Given the description of an element on the screen output the (x, y) to click on. 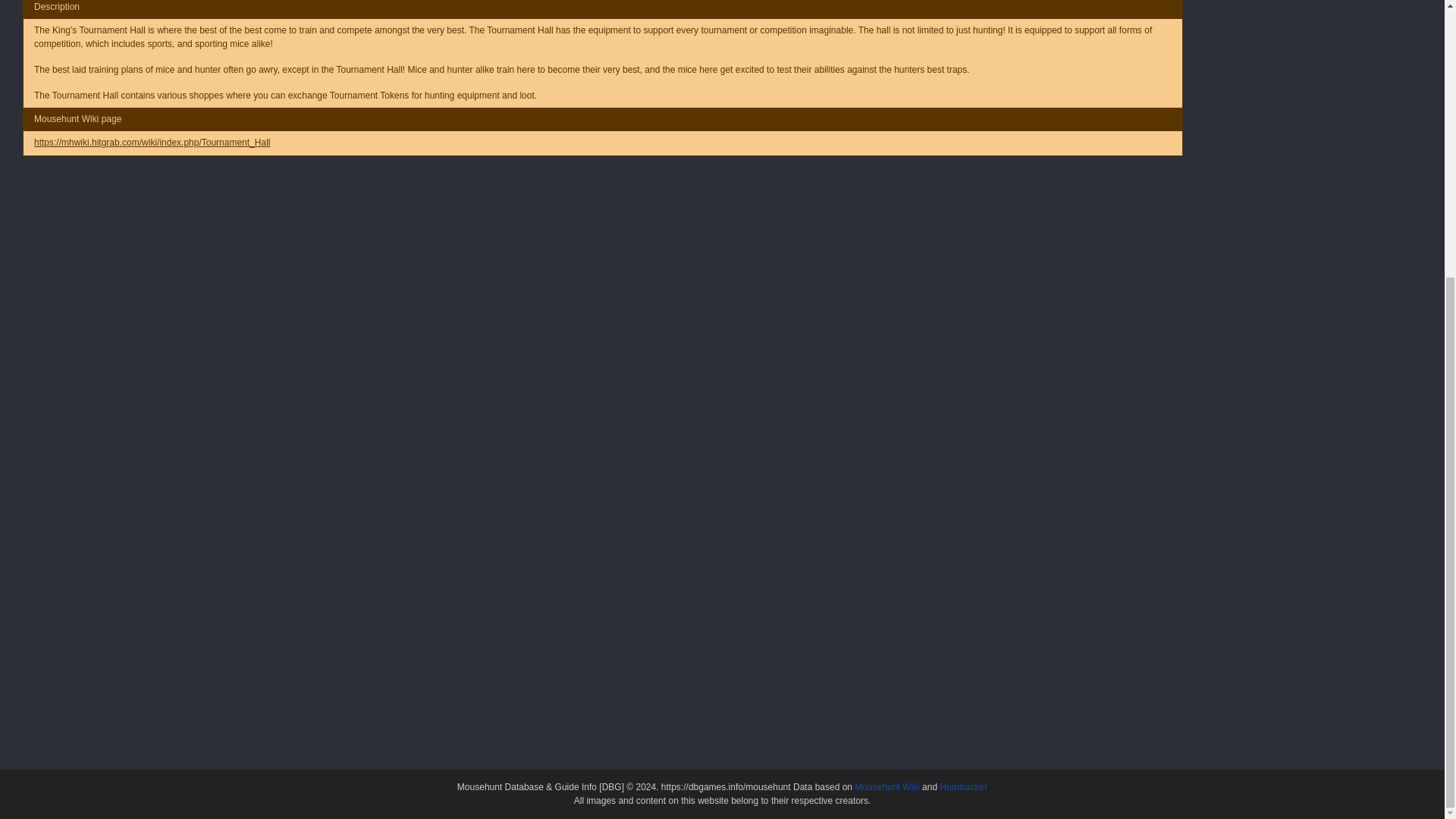
Advertisement (603, 214)
Advertisement (1307, 61)
